Given the description of an element on the screen output the (x, y) to click on. 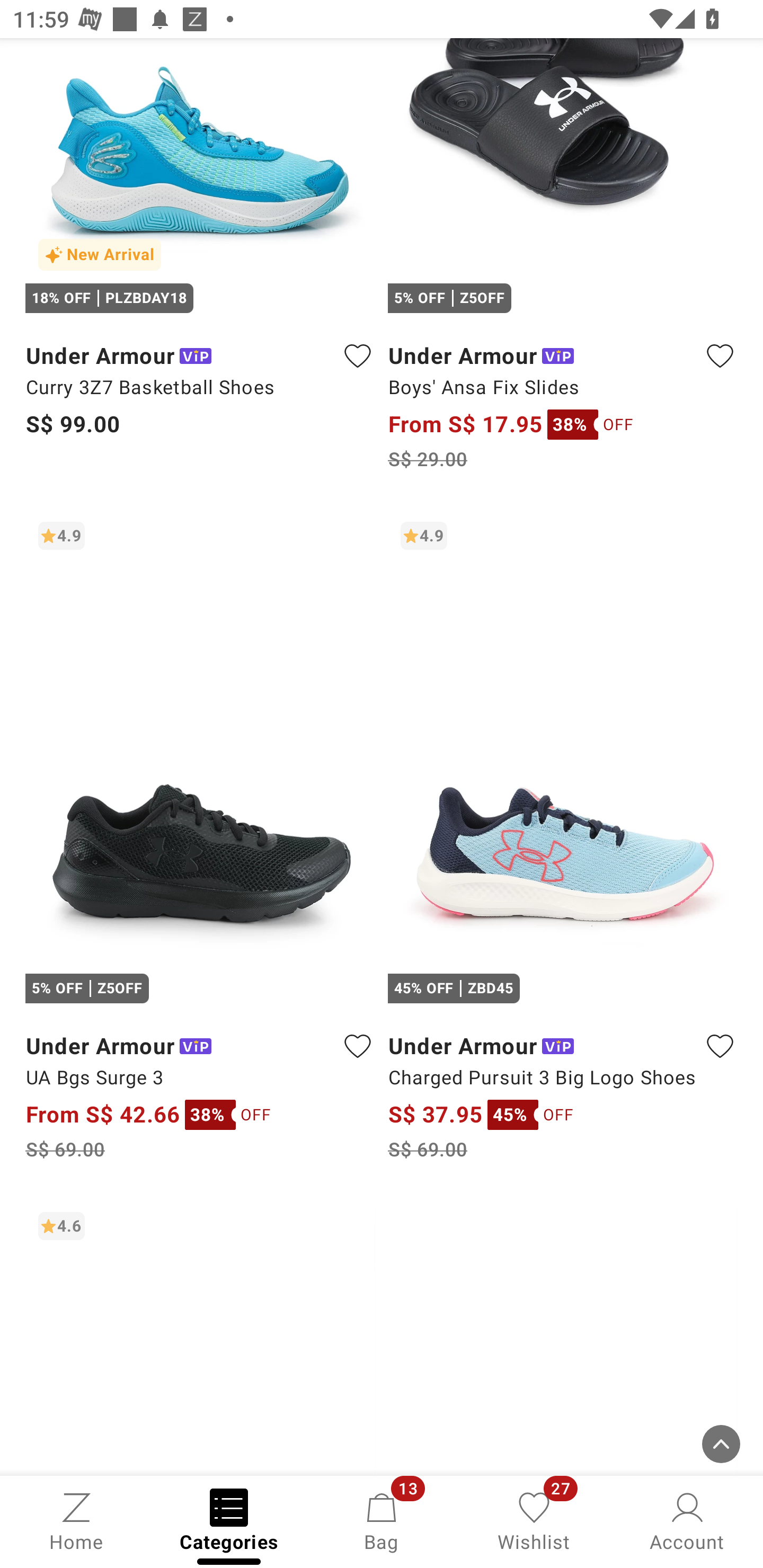
Home (76, 1519)
Bag, 13 new notifications Bag (381, 1519)
Wishlist, 27 new notifications Wishlist (533, 1519)
Account (686, 1519)
